Given the description of an element on the screen output the (x, y) to click on. 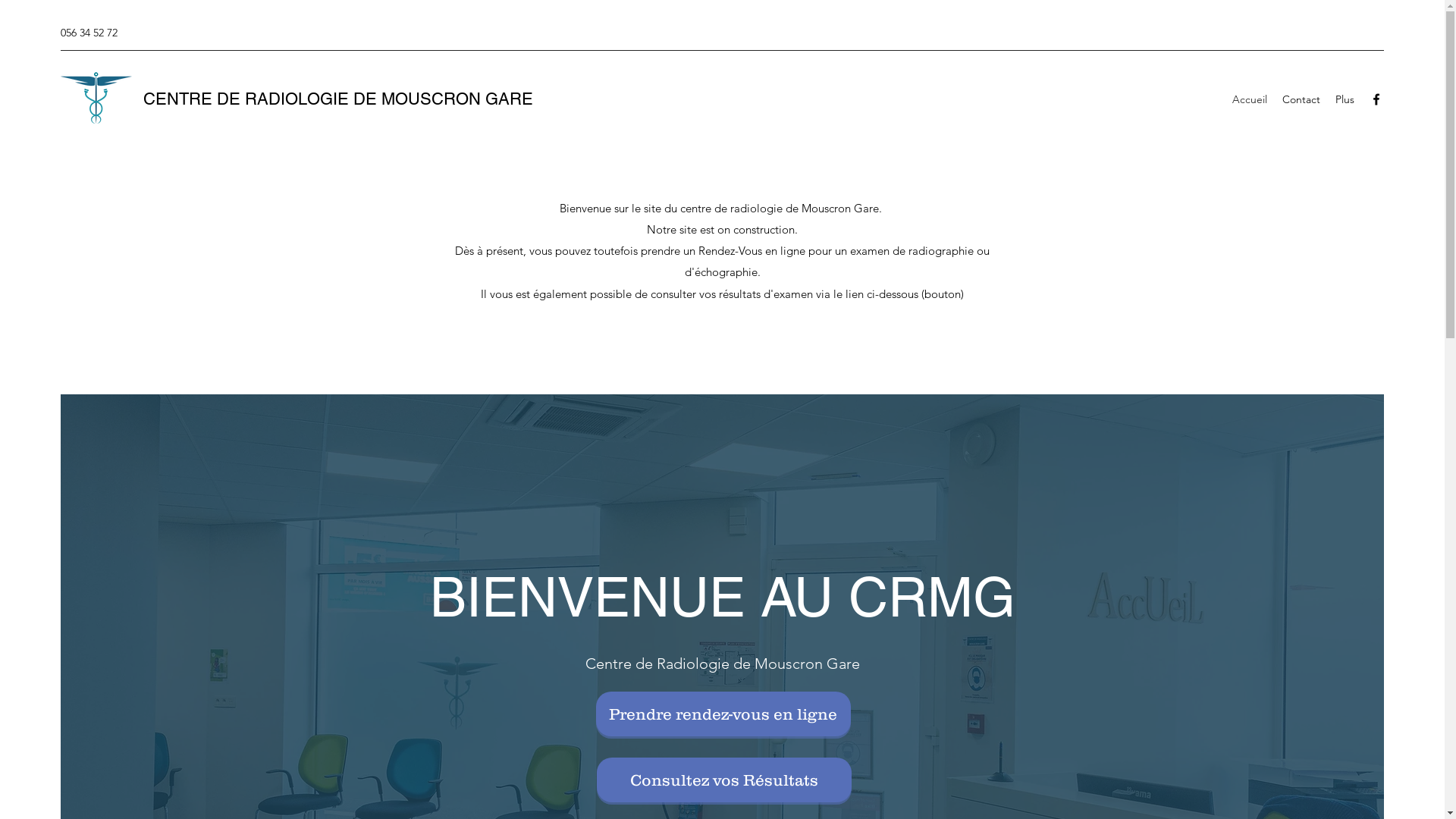
Accueil Element type: text (1249, 98)
Contact Element type: text (1300, 98)
Prendre rendez-vous en ligne Element type: text (723, 713)
